Given the description of an element on the screen output the (x, y) to click on. 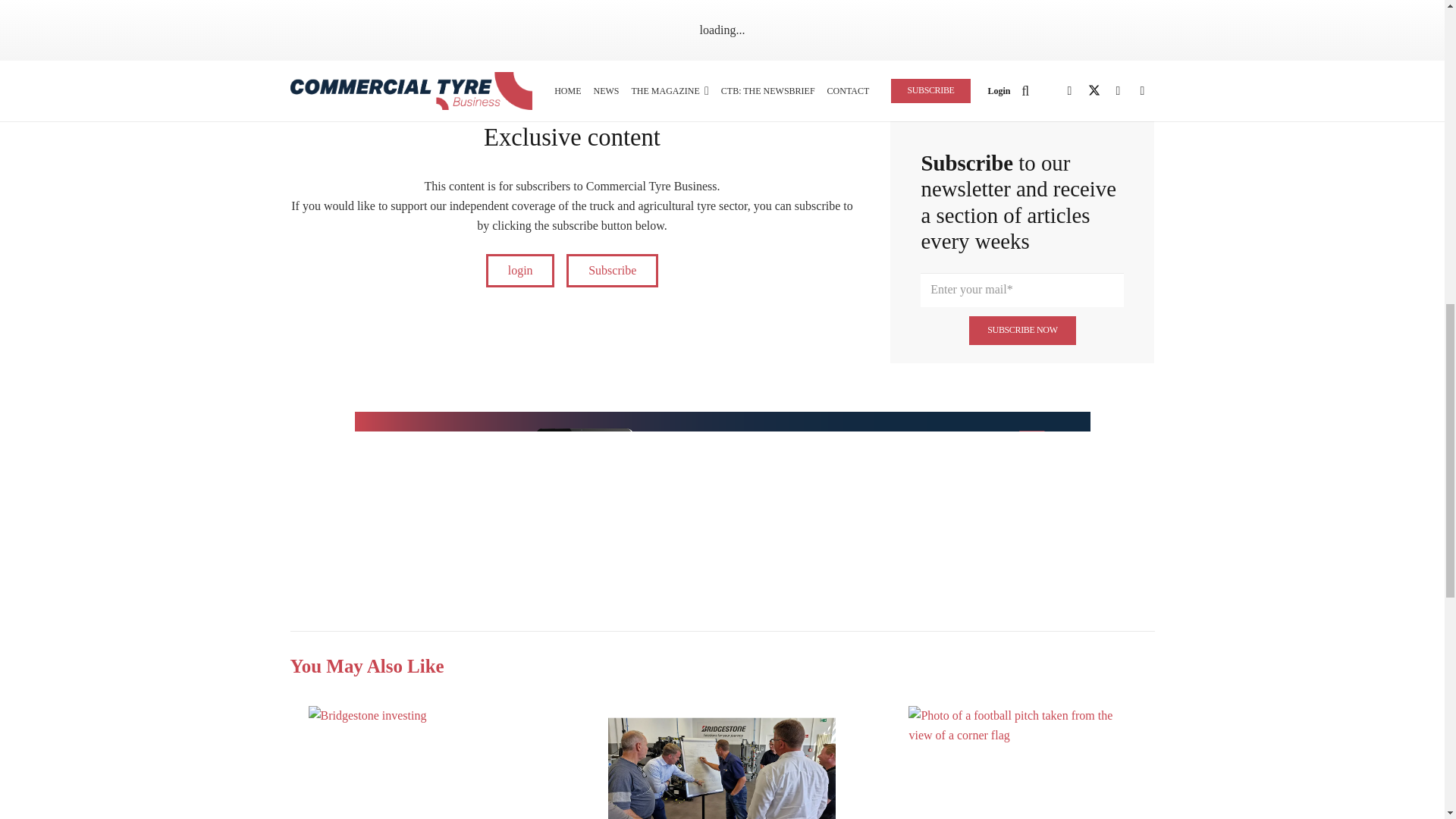
LOAD MORE (1021, 64)
Subscribe Now (1023, 330)
Subscribe (612, 270)
Subscribe Now (1023, 330)
Back to top (1414, 12)
login (520, 270)
